Given the description of an element on the screen output the (x, y) to click on. 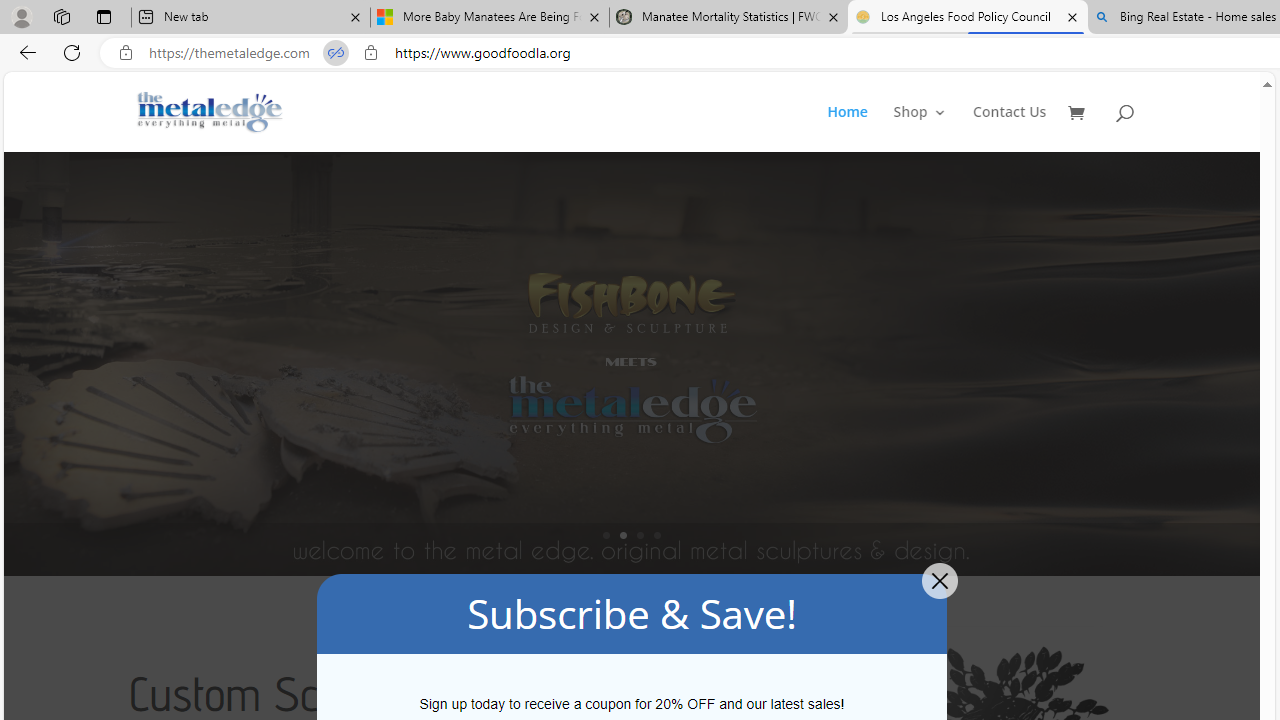
4 (657, 535)
Tabs in split screen (335, 53)
2 (623, 535)
